Given the description of an element on the screen output the (x, y) to click on. 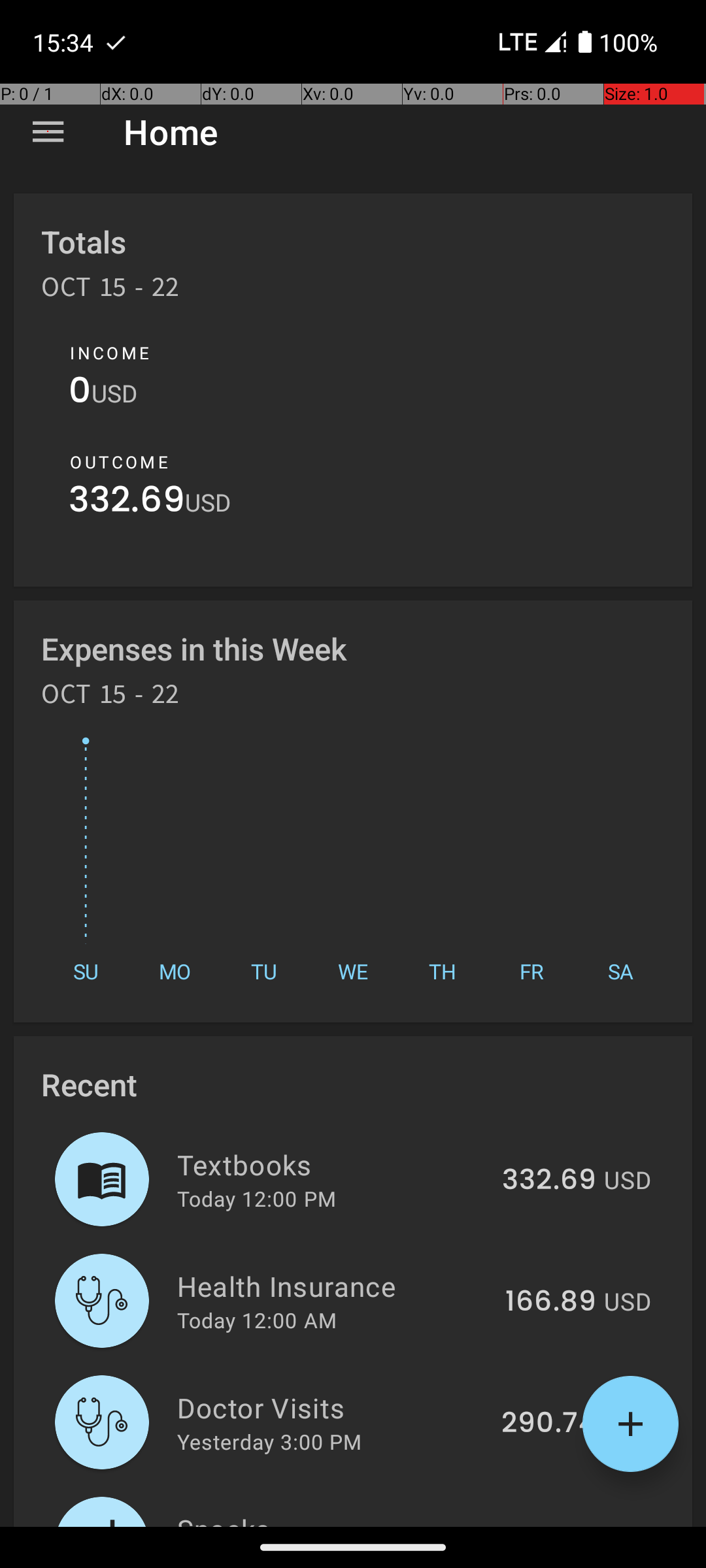
332.69 Element type: android.widget.TextView (126, 502)
Textbooks Element type: android.widget.TextView (331, 1164)
Today 12:00 PM Element type: android.widget.TextView (256, 1198)
Health Insurance Element type: android.widget.TextView (333, 1285)
Today 12:00 AM Element type: android.widget.TextView (256, 1320)
166.89 Element type: android.widget.TextView (550, 1301)
Yesterday 3:00 PM Element type: android.widget.TextView (269, 1441)
290.74 Element type: android.widget.TextView (548, 1423)
Snacks Element type: android.widget.TextView (335, 1518)
321.55 Element type: android.widget.TextView (551, 1524)
